Given the description of an element on the screen output the (x, y) to click on. 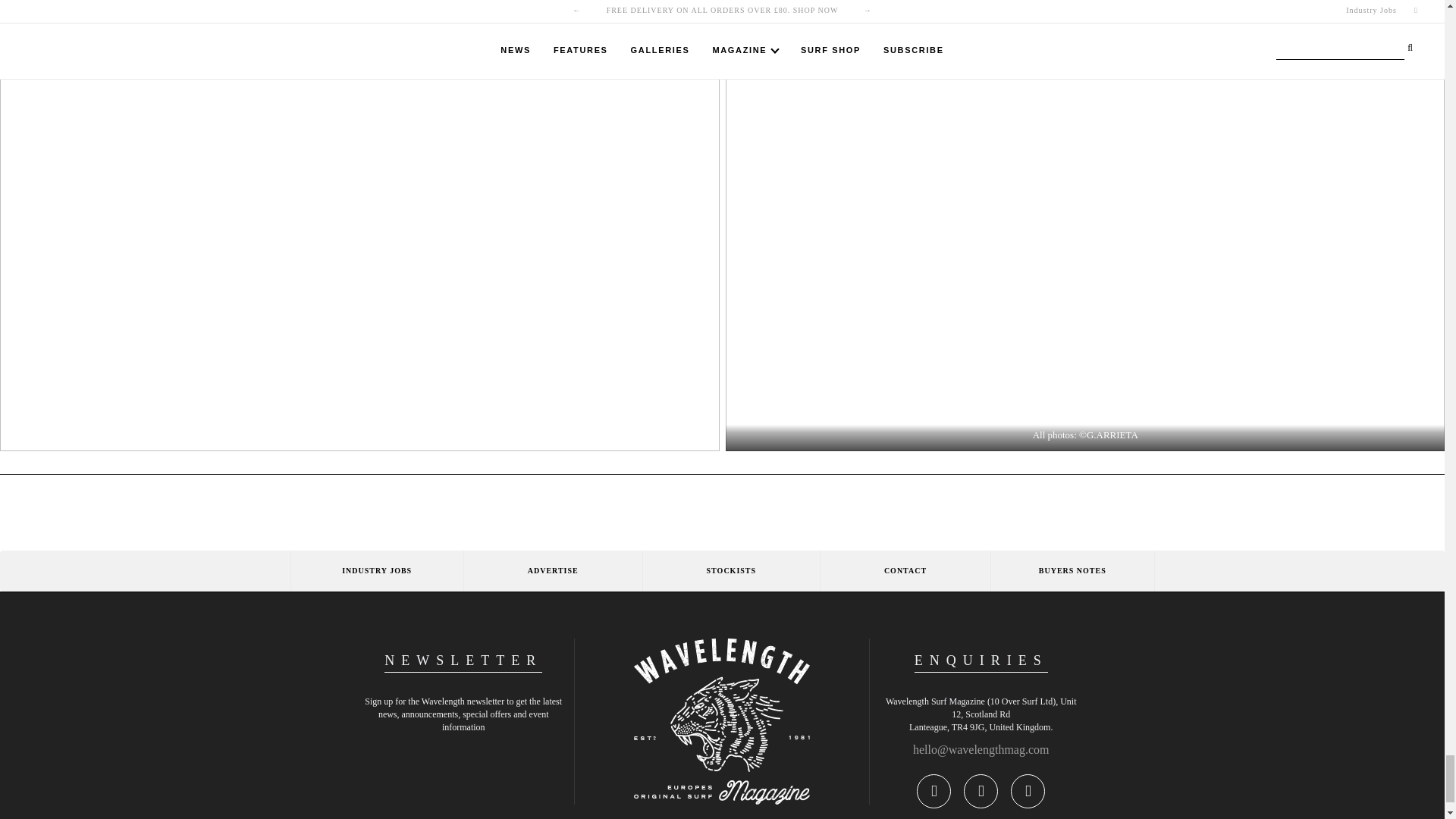
Stockists (730, 570)
ADVERTISE (552, 570)
CONTACT (904, 570)
Industry Jobs (376, 570)
Contact (904, 570)
INDUSTRY JOBS (376, 570)
Advertise (552, 570)
BUYERS NOTES (1072, 570)
Buyers Notes (1072, 570)
STOCKISTS (730, 570)
